Given the description of an element on the screen output the (x, y) to click on. 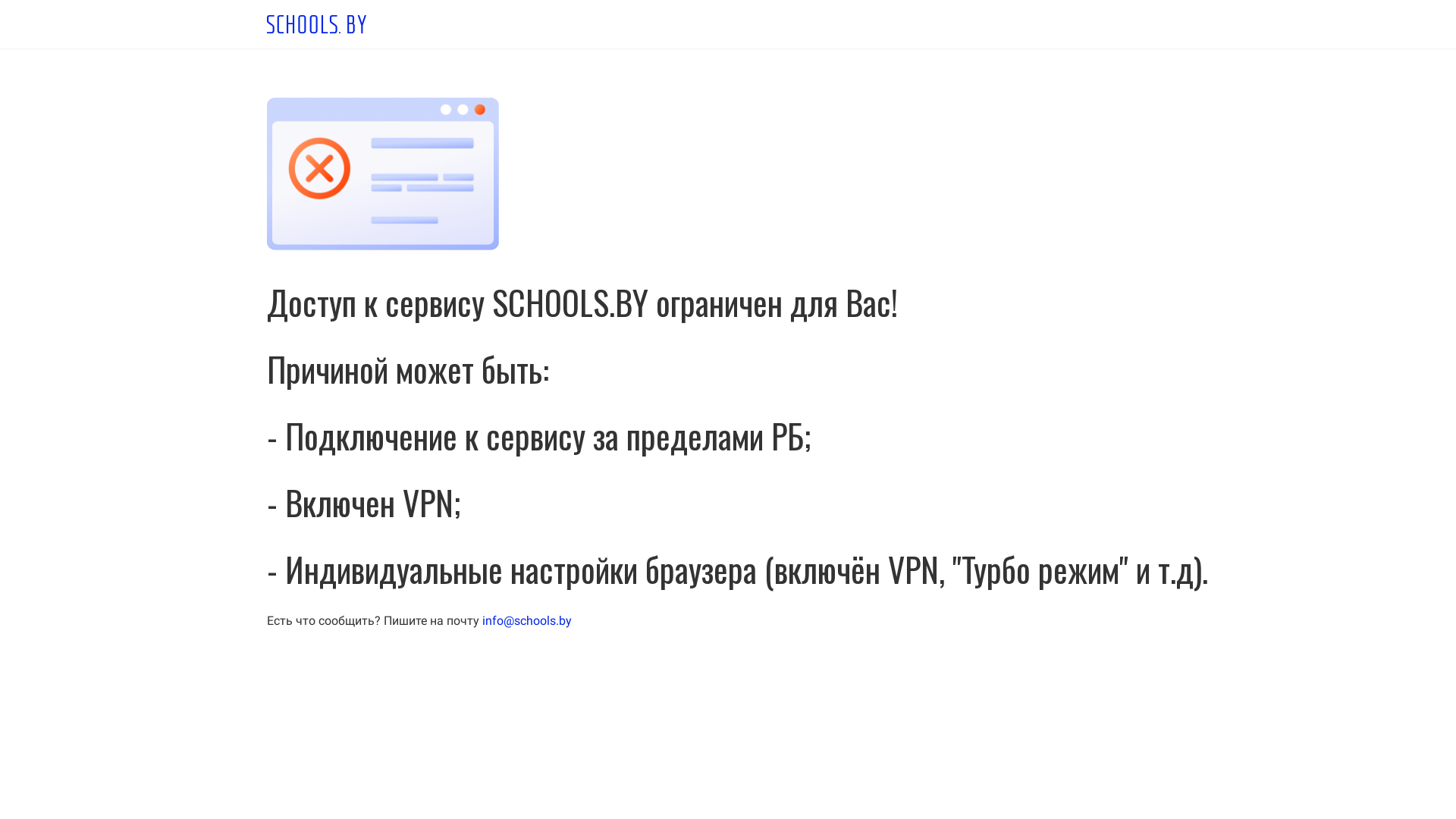
info@schools.by Element type: text (526, 620)
